Given the description of an element on the screen output the (x, y) to click on. 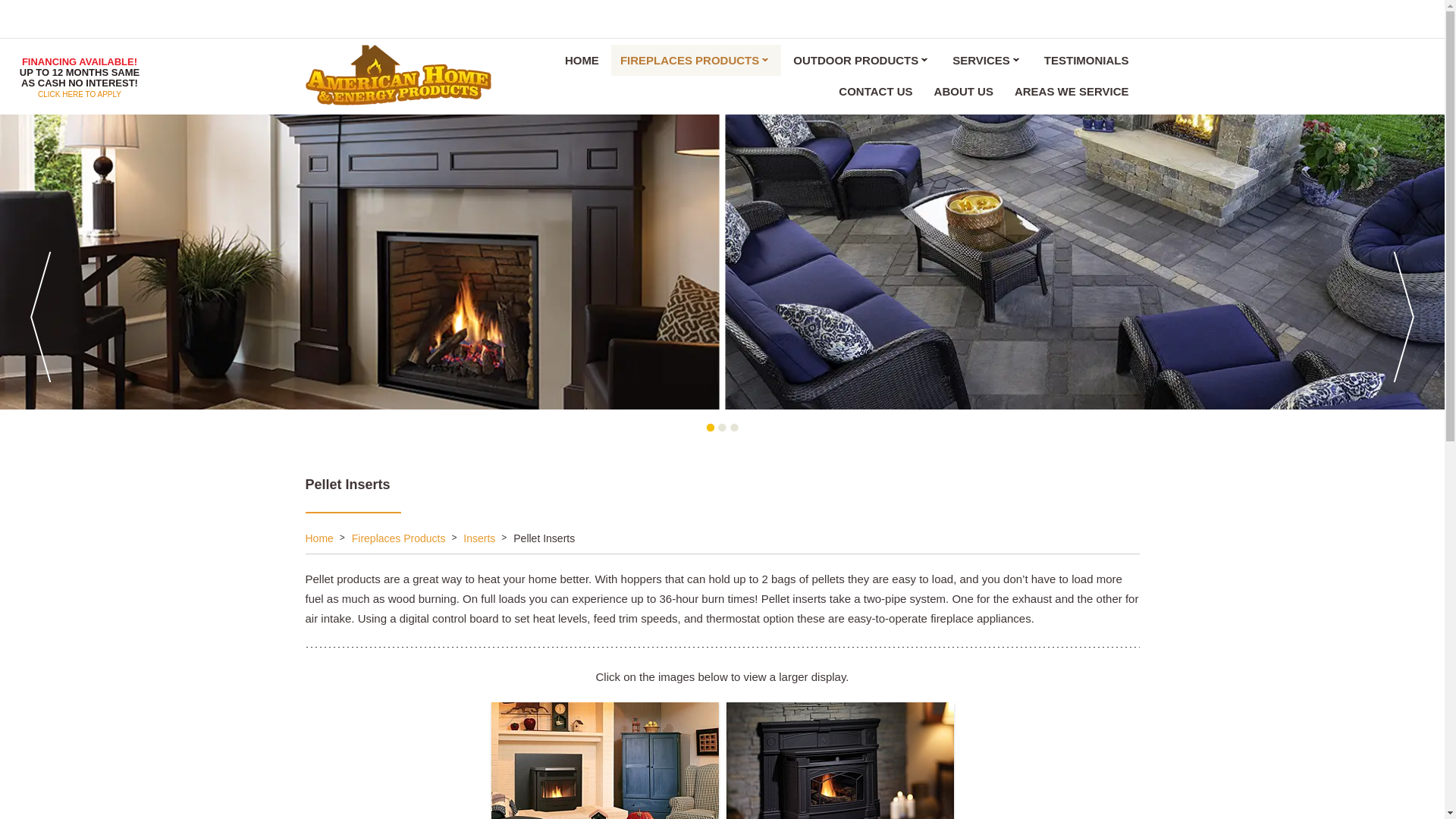
OUTDOOR PRODUCTS (862, 60)
HOME (582, 60)
FIREPLACES PRODUCTS (695, 60)
